Given the description of an element on the screen output the (x, y) to click on. 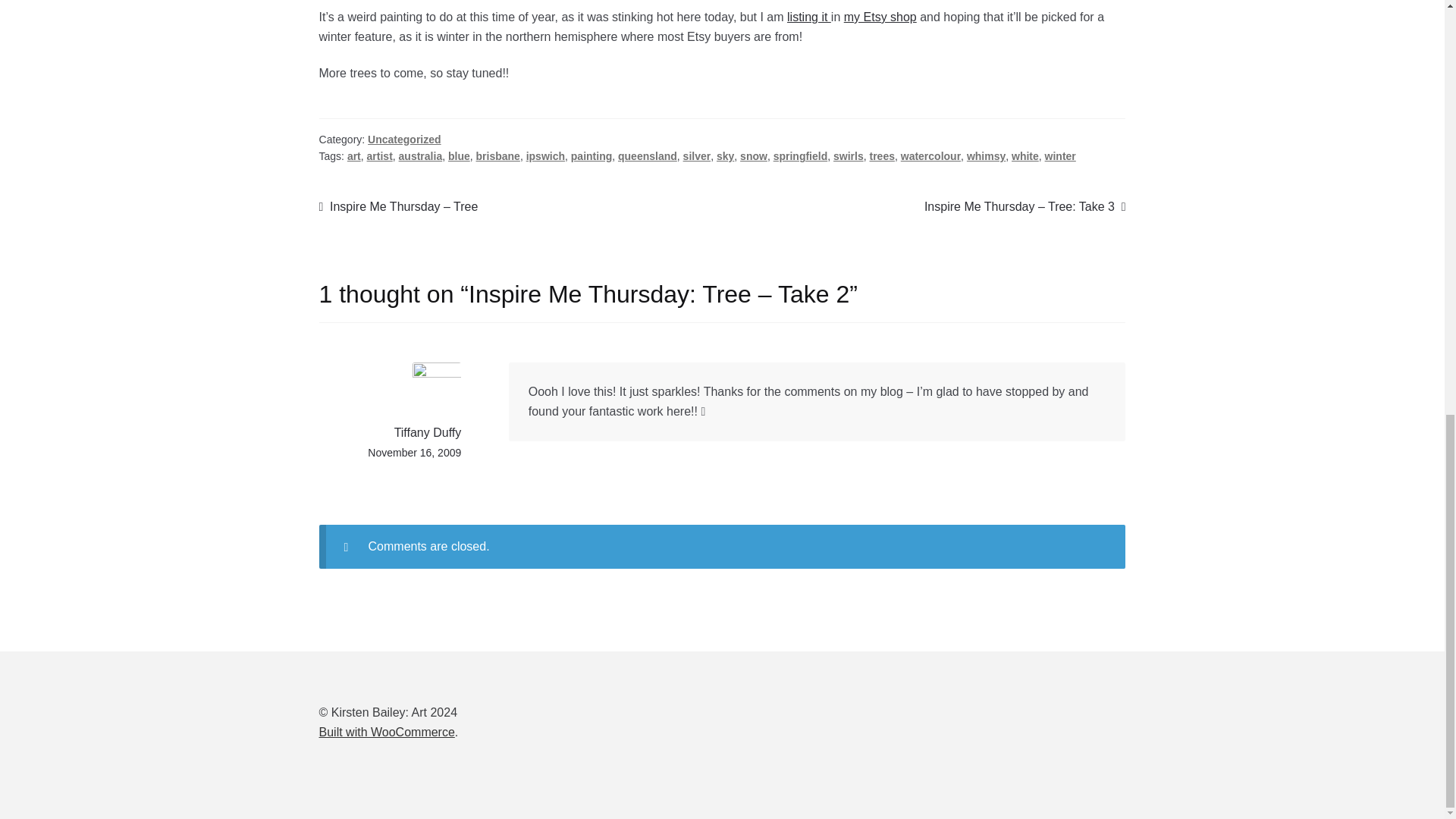
australia (420, 155)
Uncategorized (404, 139)
my Etsy shop (880, 16)
artist (379, 155)
blue (459, 155)
listing it (809, 16)
art (354, 155)
brisbane (497, 155)
WooCommerce - The Best eCommerce Platform for WordPress (386, 731)
